Given the description of an element on the screen output the (x, y) to click on. 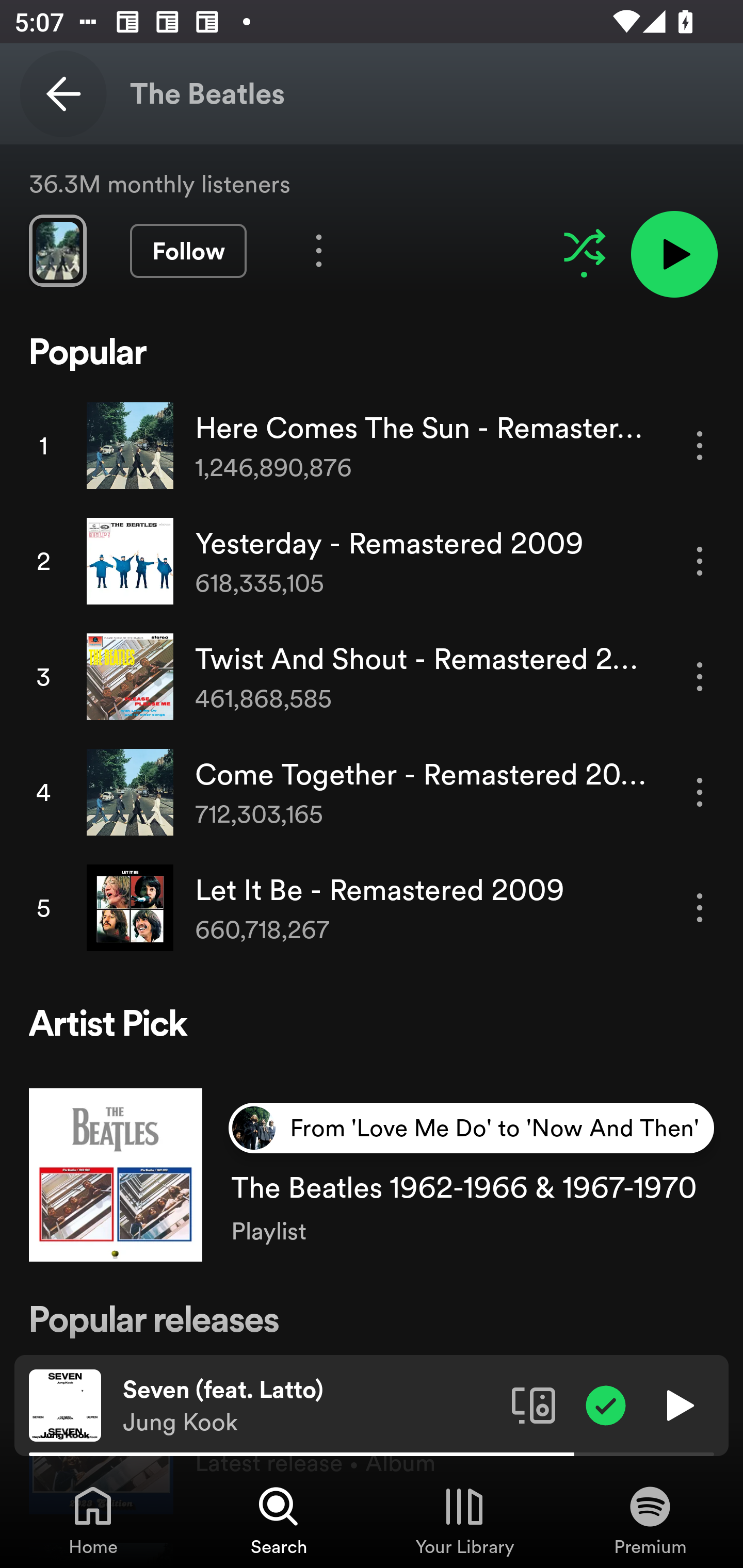
Back (63, 93)
Disable shuffle for this artist (583, 246)
Swipe through previews of tracks from this artist. (57, 250)
More options for artist The Beatles (318, 250)
Play artist (674, 253)
Follow (188, 250)
More options for song Yesterday - Remastered 2009 (699, 561)
More options for song Let It Be - Remastered 2009 (699, 907)
Seven (feat. Latto) Jung Kook (309, 1405)
The cover art of the currently playing track (64, 1404)
Connect to a device. Opens the devices menu (533, 1404)
Item added (605, 1404)
Play (677, 1404)
Home, Tab 1 of 4 Home Home (92, 1519)
Search, Tab 2 of 4 Search Search (278, 1519)
Your Library, Tab 3 of 4 Your Library Your Library (464, 1519)
Premium, Tab 4 of 4 Premium Premium (650, 1519)
